Given the description of an element on the screen output the (x, y) to click on. 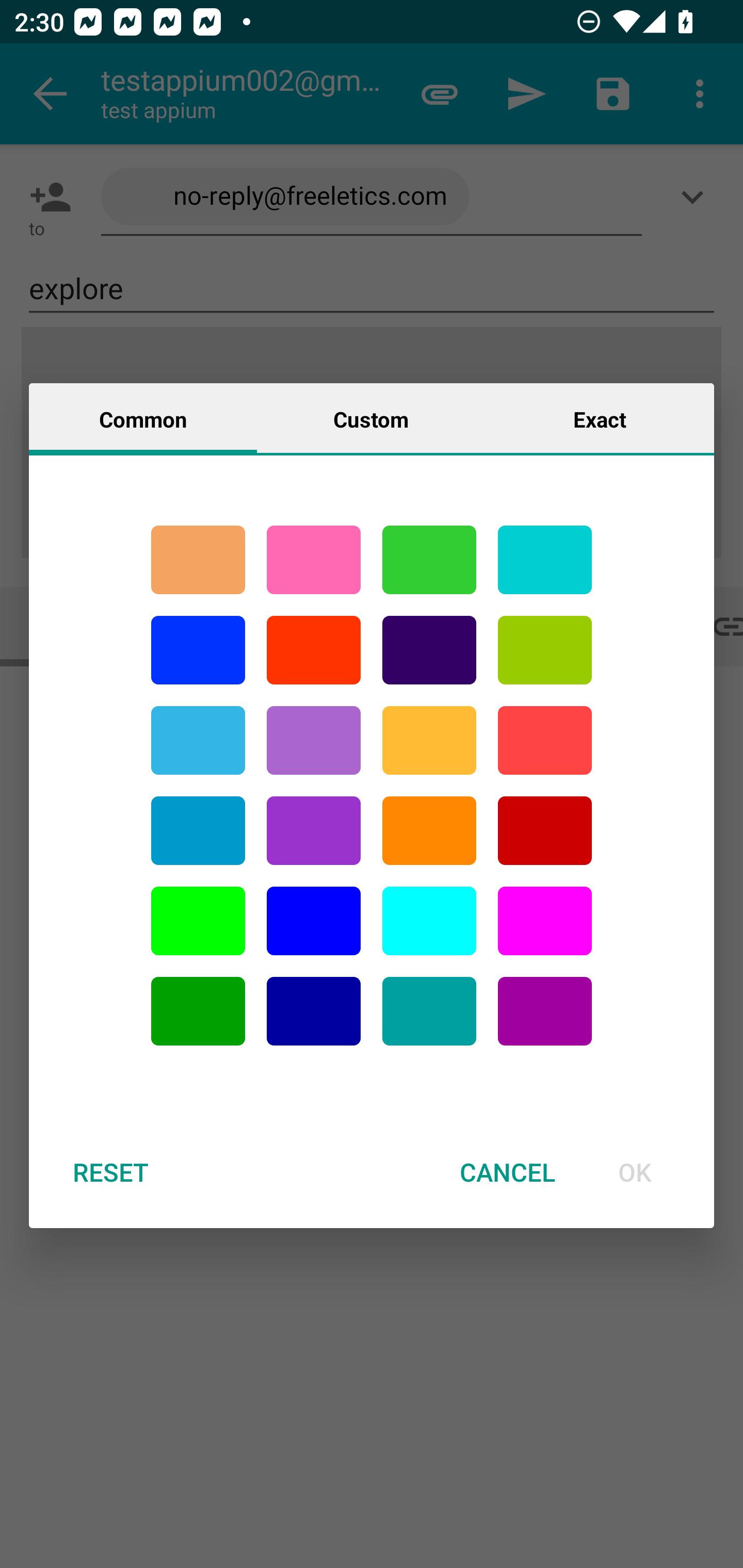
Common (142, 418)
Custom (371, 418)
Exact (599, 418)
Peach (197, 559)
Pink (313, 559)
Green (429, 559)
Cyan (544, 559)
Blue (197, 649)
Red (313, 649)
Dark purple (429, 649)
Light green (544, 649)
Cyan (197, 739)
Purple (313, 739)
Light orange (429, 739)
Light red (544, 739)
Dark cyan (197, 830)
Purple (313, 830)
Orange (429, 830)
Dark red (544, 830)
Light green (197, 920)
Blue (313, 920)
Light cyan (429, 920)
Light purple (544, 920)
Dark green (197, 1010)
Dark blue (313, 1010)
Cyan (429, 1010)
Purple (544, 1010)
RESET (110, 1171)
CANCEL (507, 1171)
OK (634, 1171)
